Given the description of an element on the screen output the (x, y) to click on. 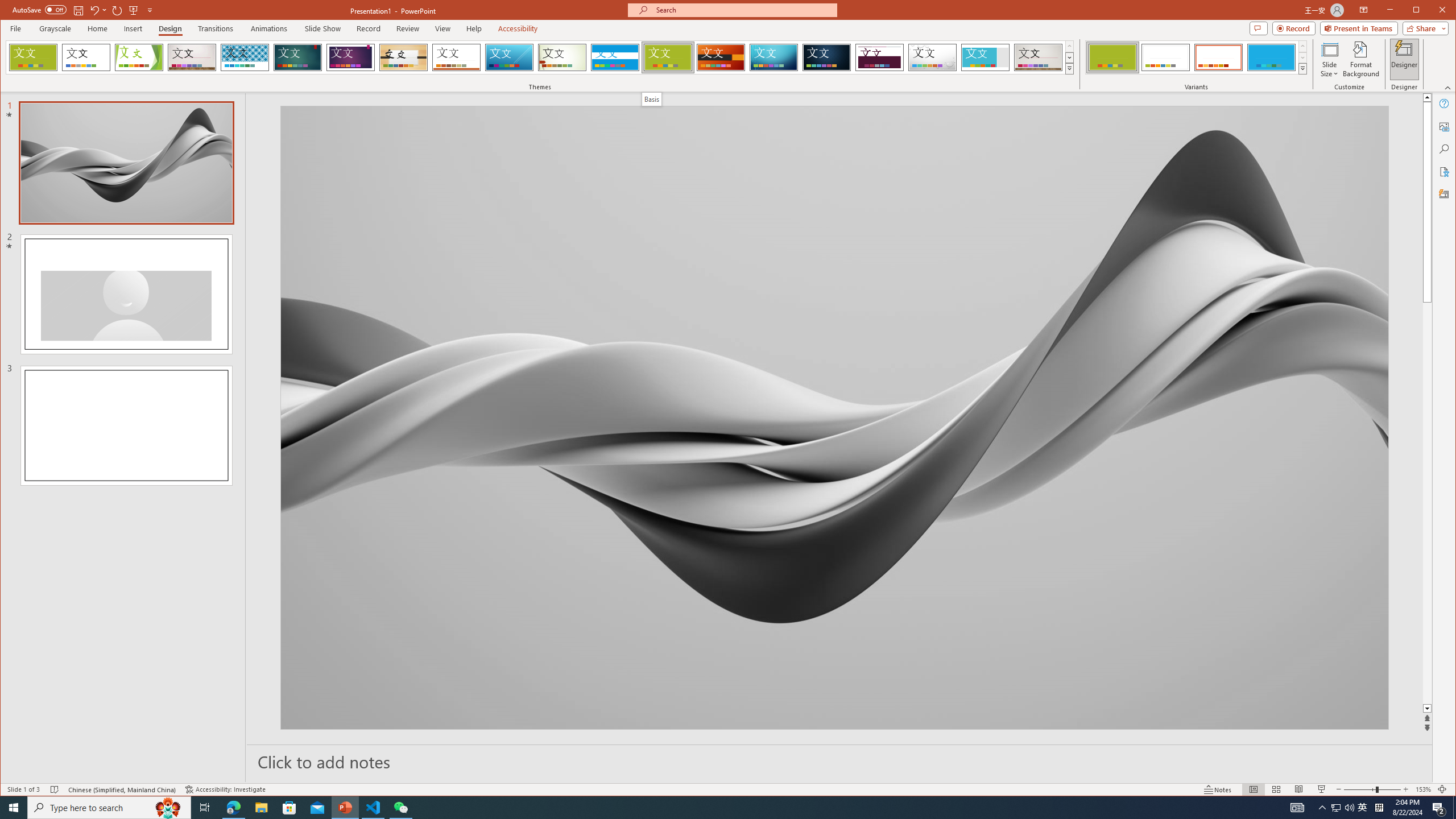
Frame (985, 57)
Circuit (773, 57)
Retrospect (456, 57)
Integral (244, 57)
